Given the description of an element on the screen output the (x, y) to click on. 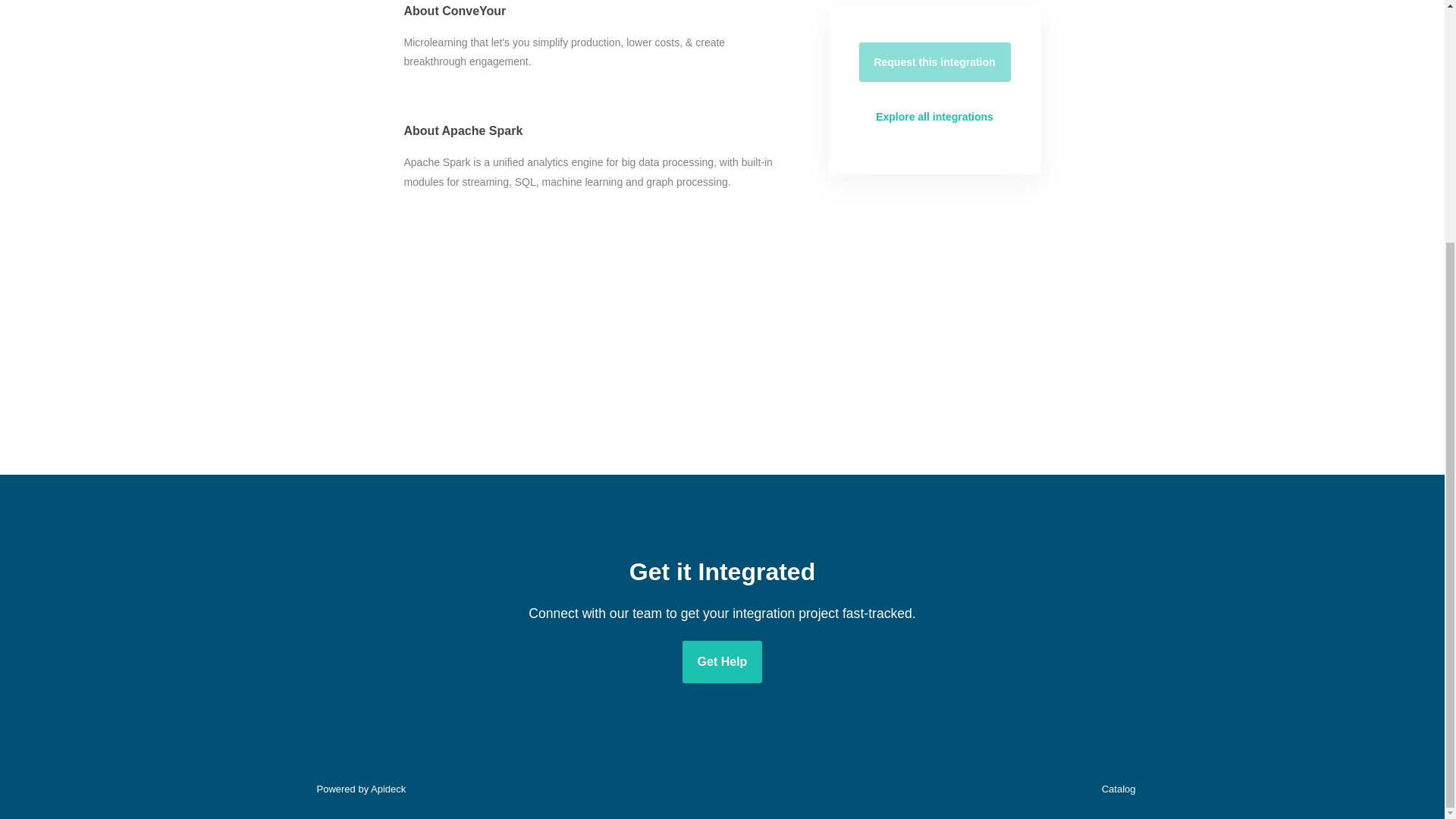
Explore all integrations (934, 116)
Catalog (1115, 789)
Request this integration (934, 61)
Get Help (722, 661)
Powered by Apideck (356, 789)
